Given the description of an element on the screen output the (x, y) to click on. 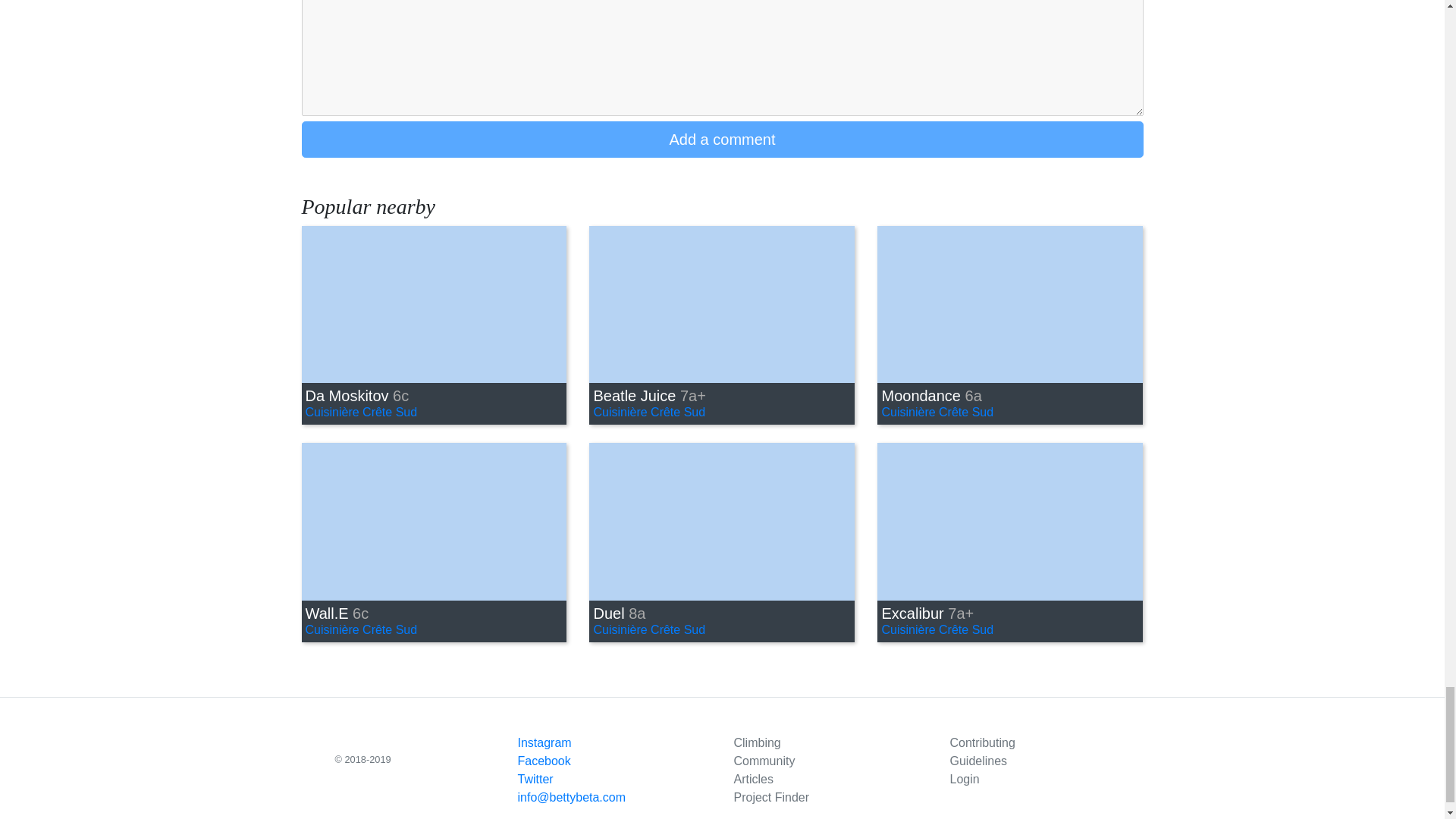
Add a comment (721, 139)
